Given the description of an element on the screen output the (x, y) to click on. 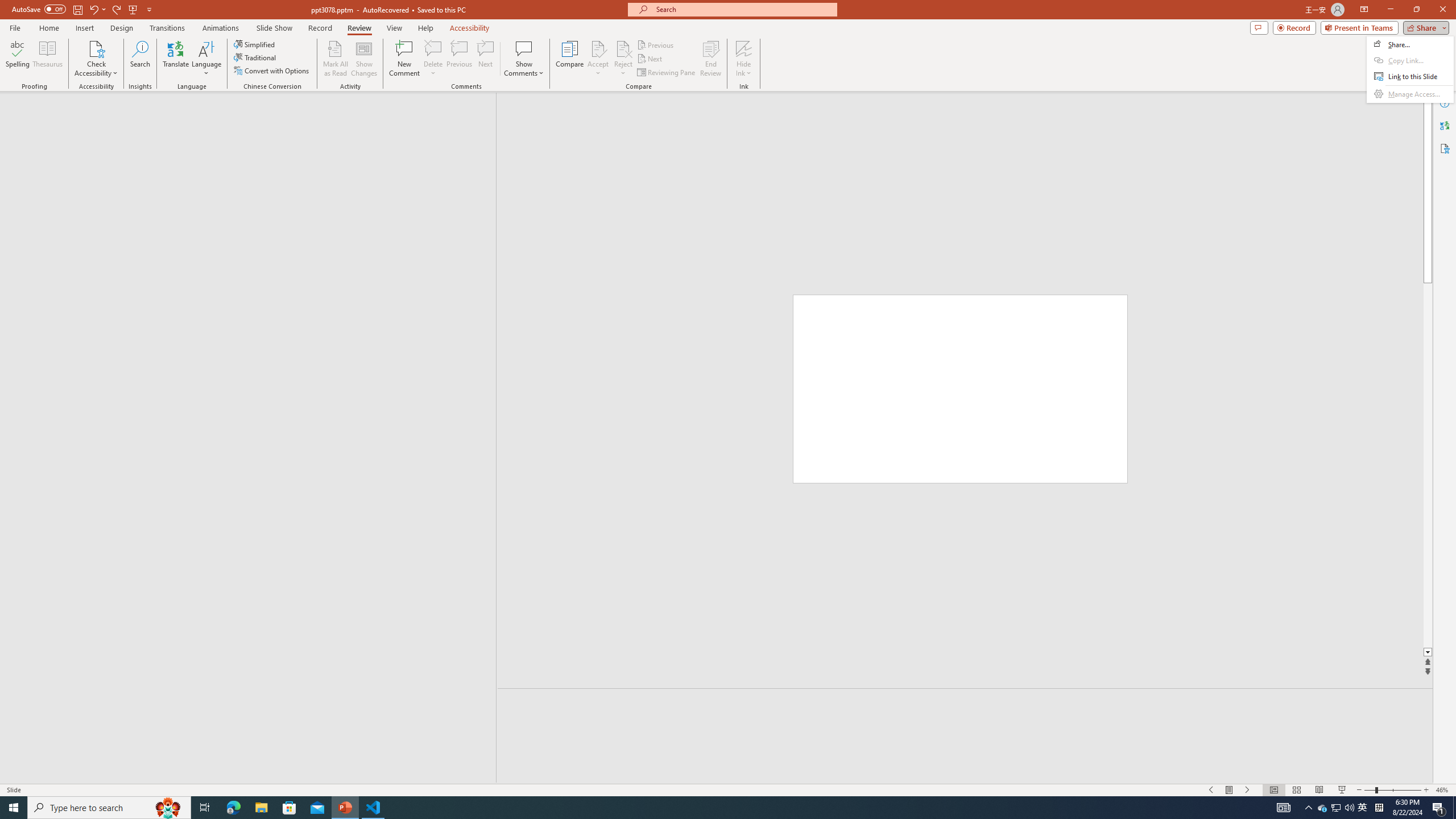
Page down (1427, 465)
Show Changes (363, 58)
File Explorer (261, 807)
Class: MsoCommandBar (728, 789)
Convert with Options... (272, 69)
Microsoft Edge (233, 807)
Accept (598, 58)
